Given the description of an element on the screen output the (x, y) to click on. 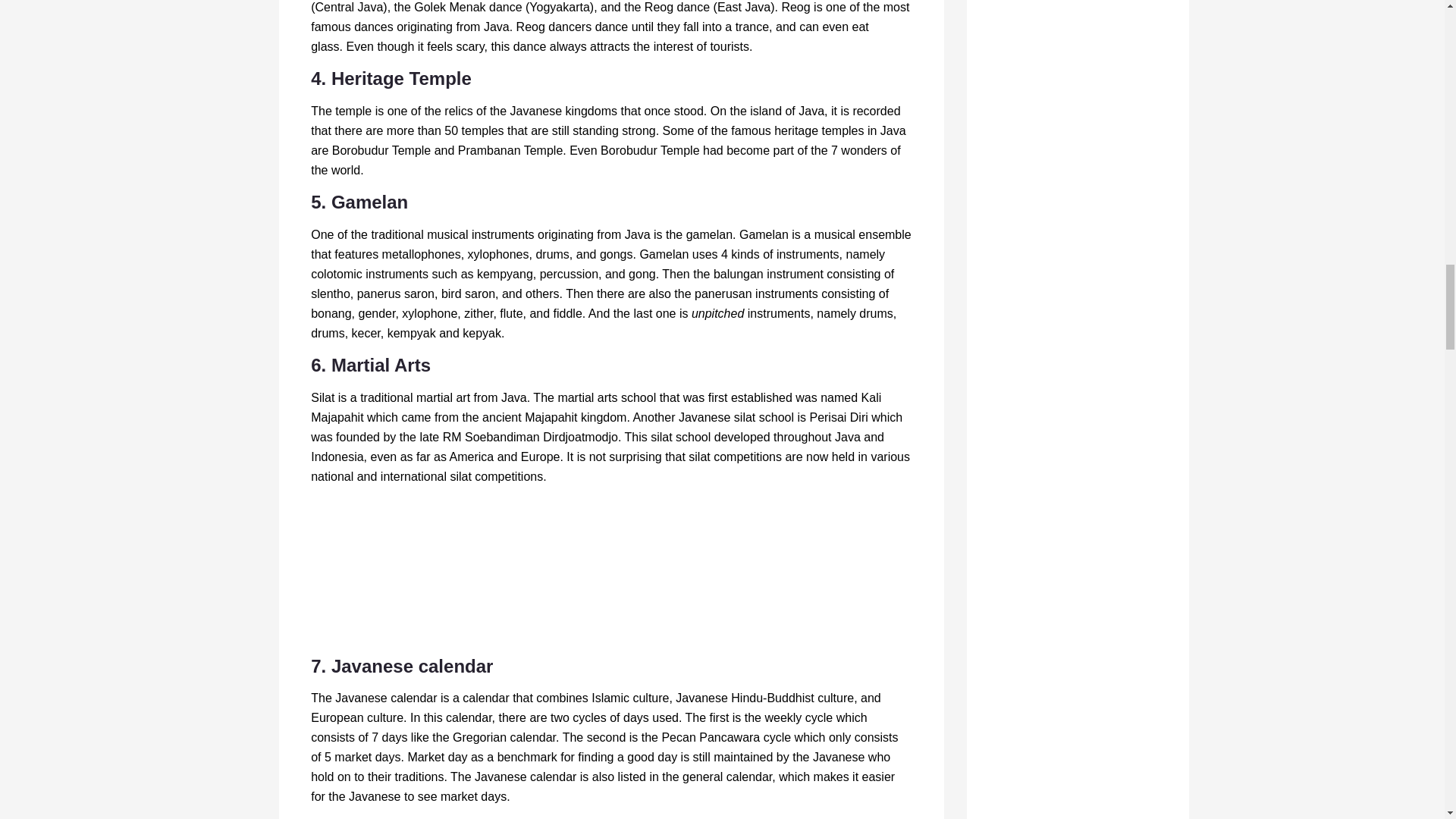
Advertisement (611, 572)
